Given the description of an element on the screen output the (x, y) to click on. 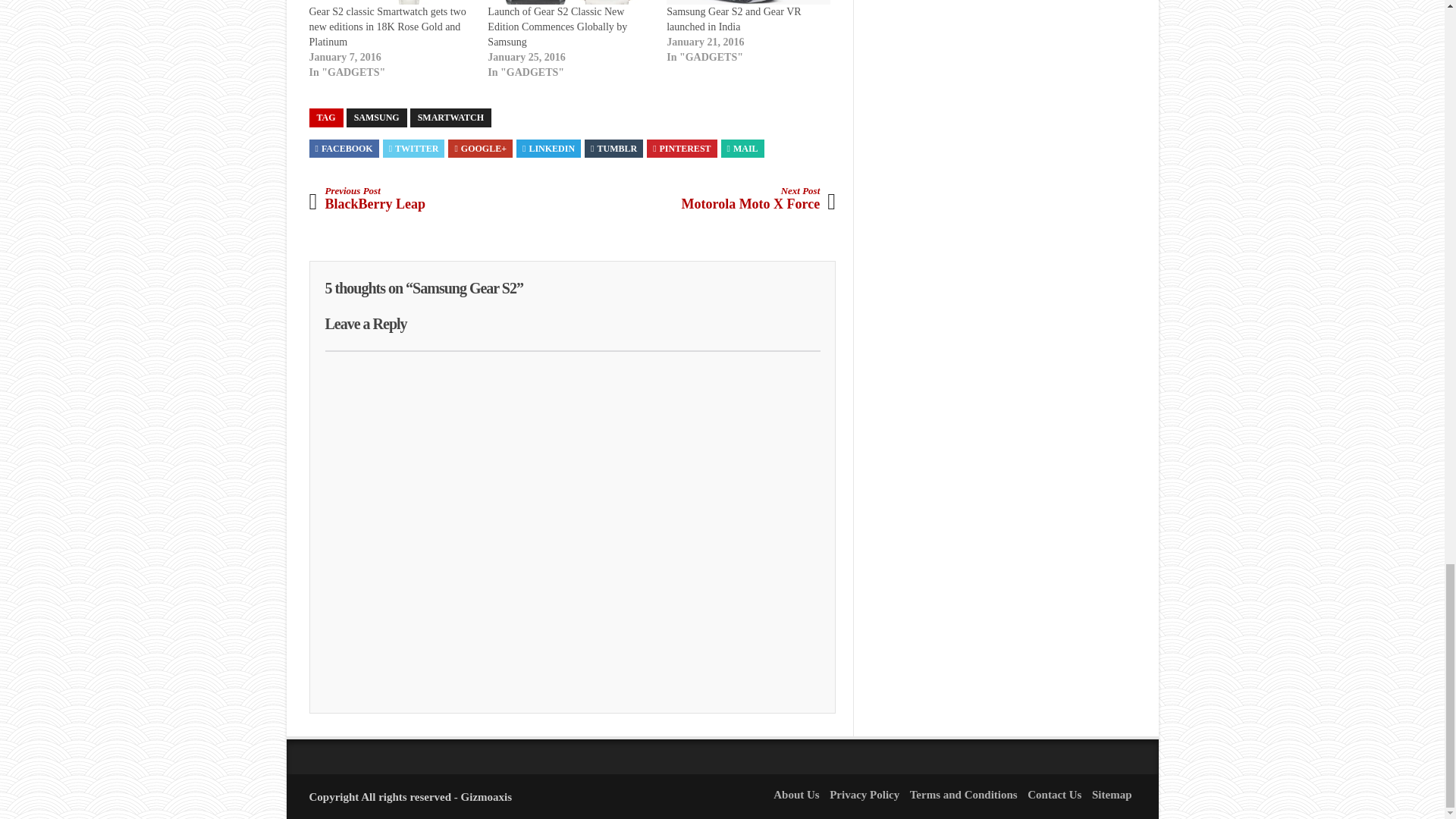
Facebook (343, 148)
